Given the description of an element on the screen output the (x, y) to click on. 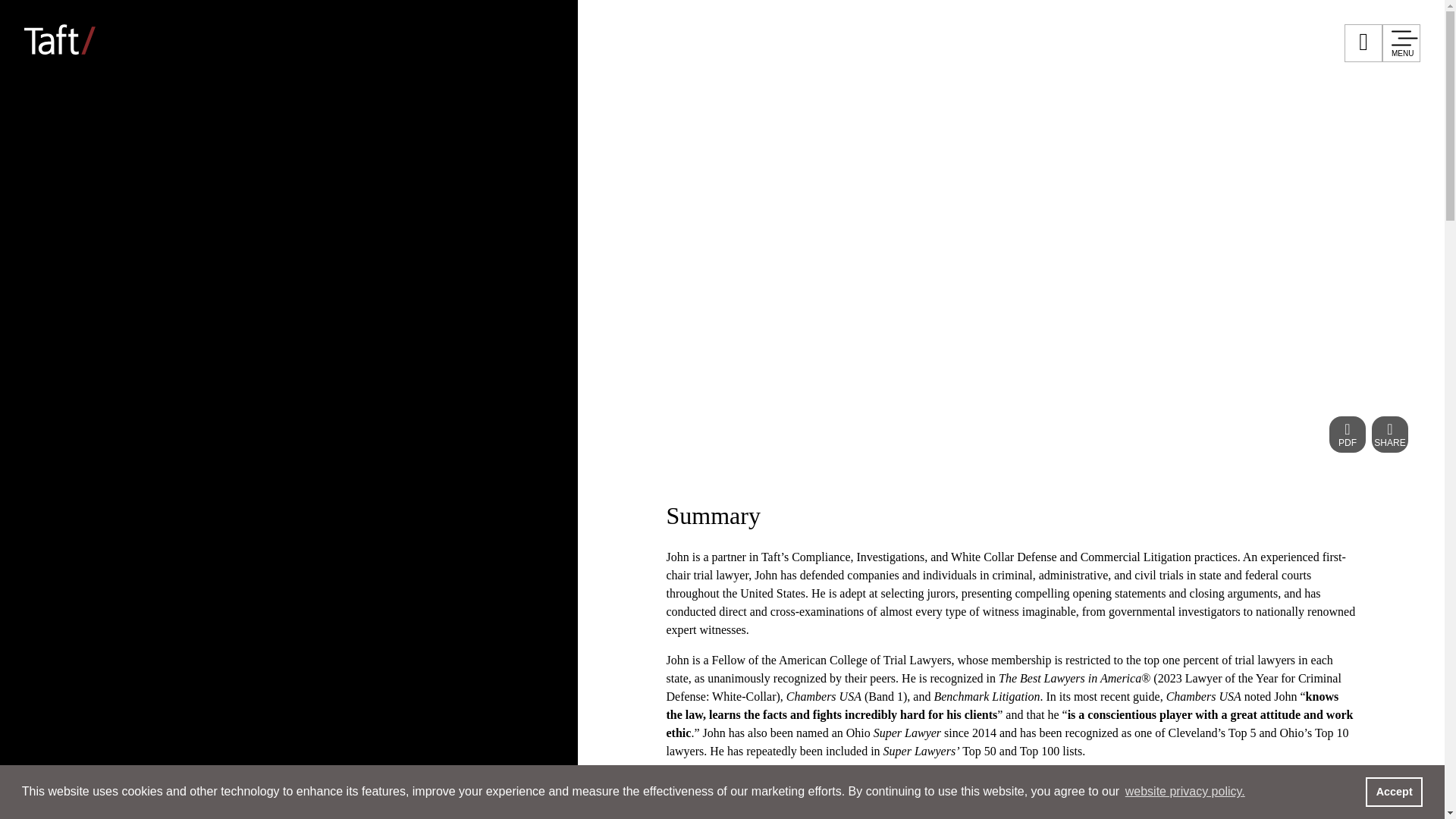
Accept (1393, 791)
MENU (1401, 43)
website privacy policy. (1184, 791)
